Given the description of an element on the screen output the (x, y) to click on. 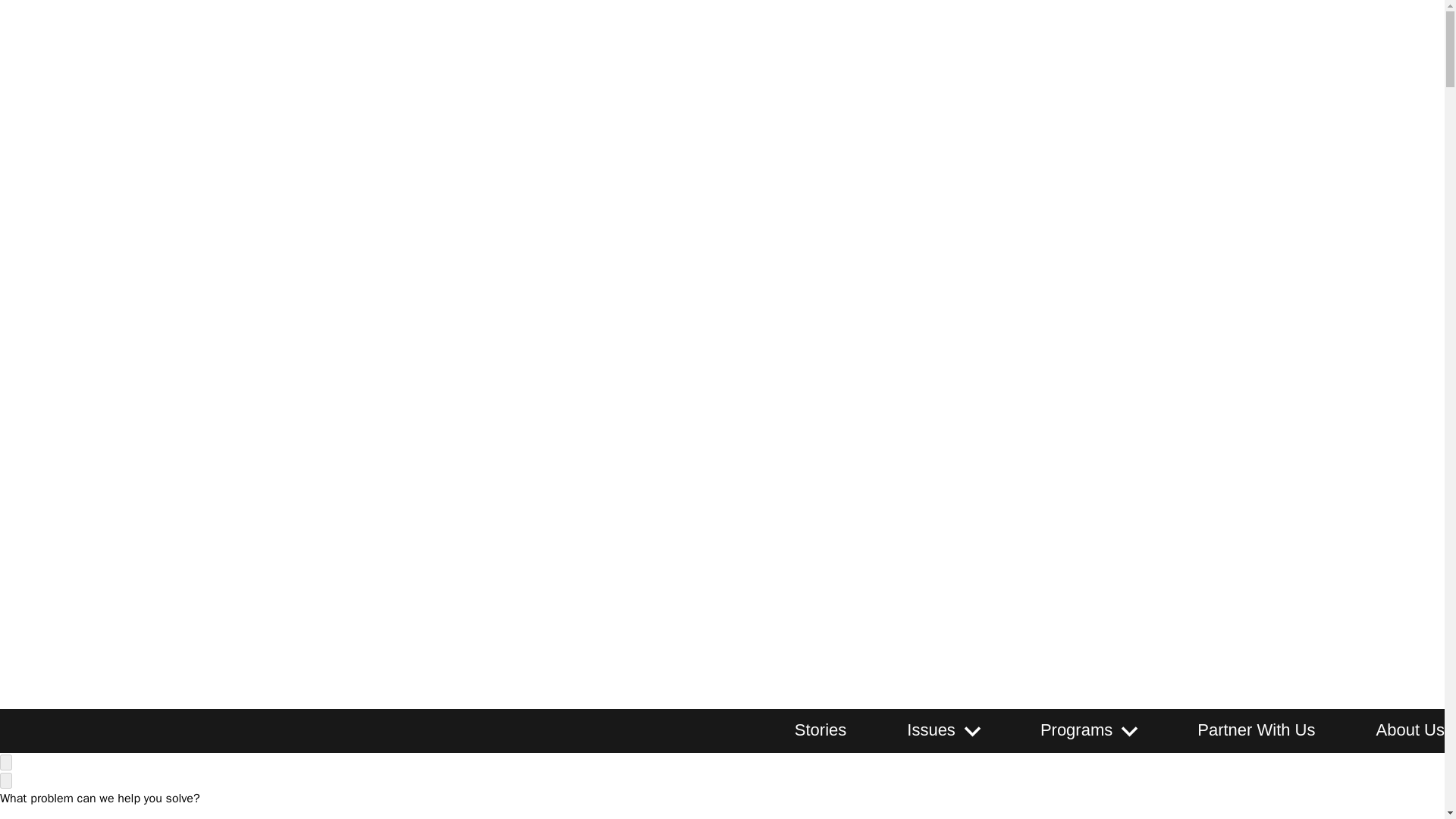
Stories (819, 729)
Issues (931, 729)
Partner With Us (1255, 729)
Programs (1076, 729)
